Given the description of an element on the screen output the (x, y) to click on. 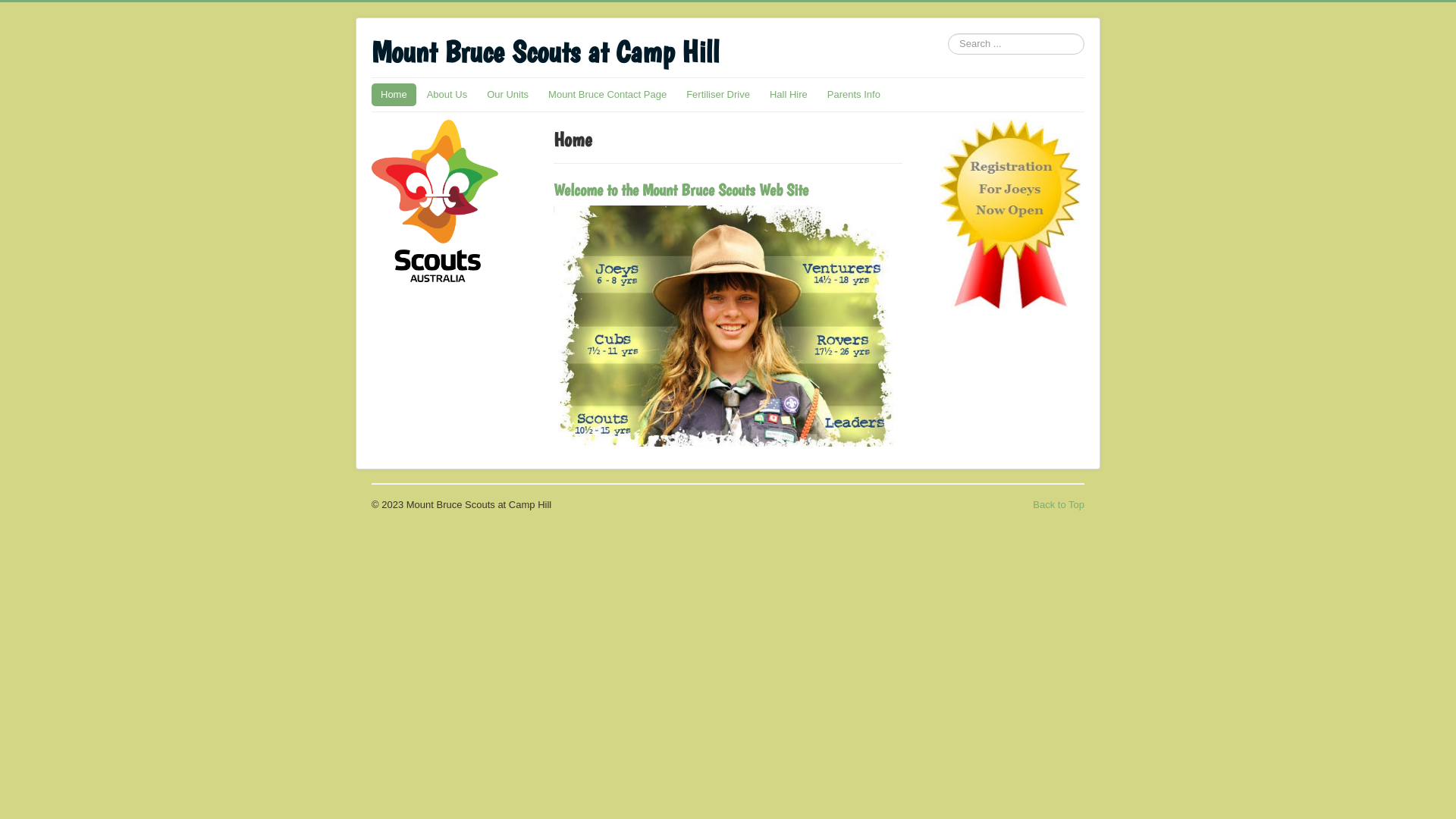
Fertiliser Drive Element type: text (718, 94)
Mount Bruce Scouts at Camp Hill Element type: text (544, 51)
Home Element type: text (393, 94)
Back to Top Element type: text (1058, 504)
Parents Info Element type: text (853, 94)
Welcome to the Mount Bruce Scouts Web Site Element type: text (680, 189)
Mount Bruce Contact Page Element type: text (607, 94)
About Us Element type: text (446, 94)
Hall Hire Element type: text (788, 94)
Our Units Element type: text (507, 94)
